Given the description of an element on the screen output the (x, y) to click on. 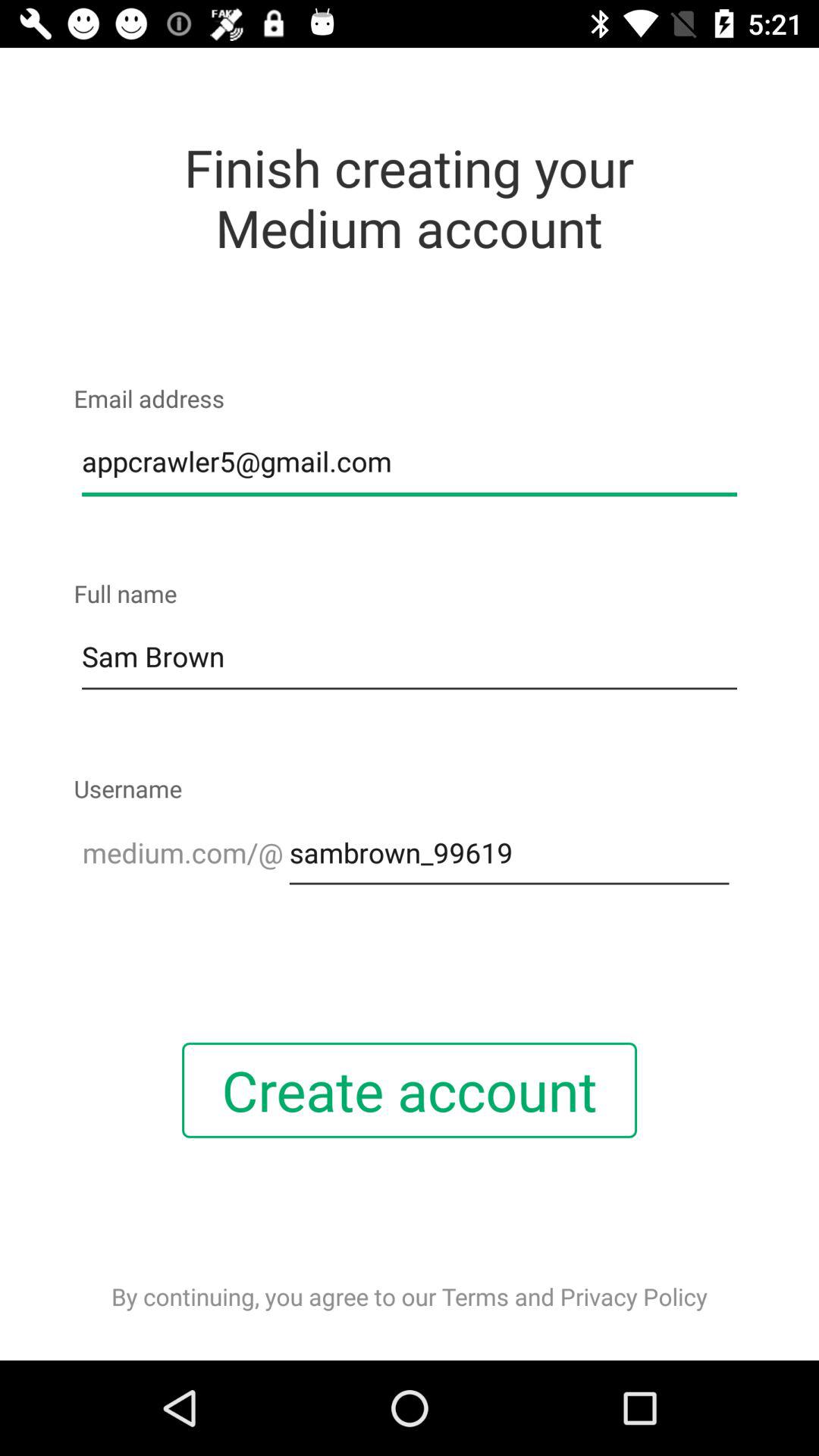
scroll until sam brown icon (409, 657)
